Given the description of an element on the screen output the (x, y) to click on. 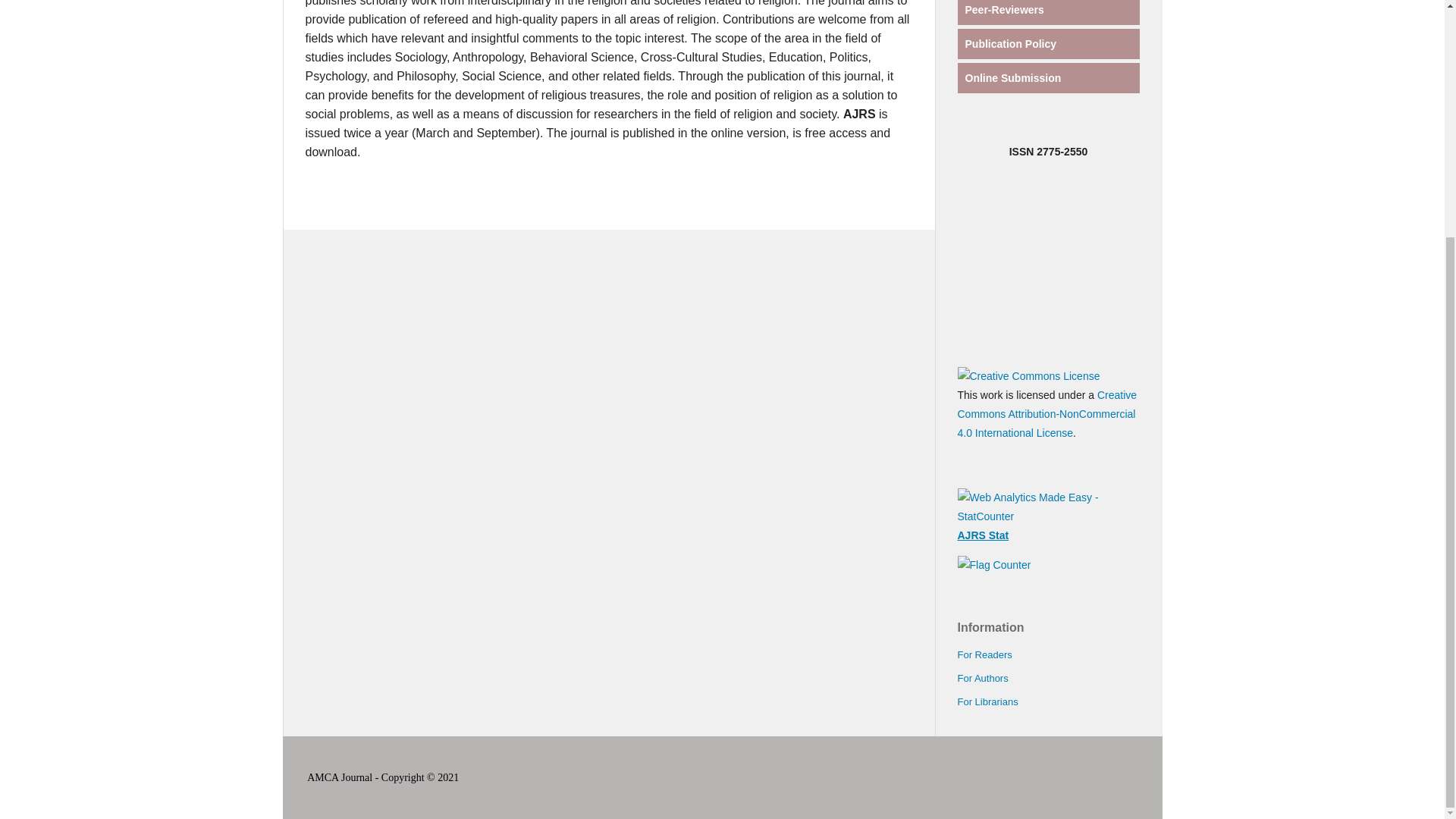
Publication Policy (1010, 43)
Online Submission (1012, 78)
Peer-Reviewers (1003, 9)
